Given the description of an element on the screen output the (x, y) to click on. 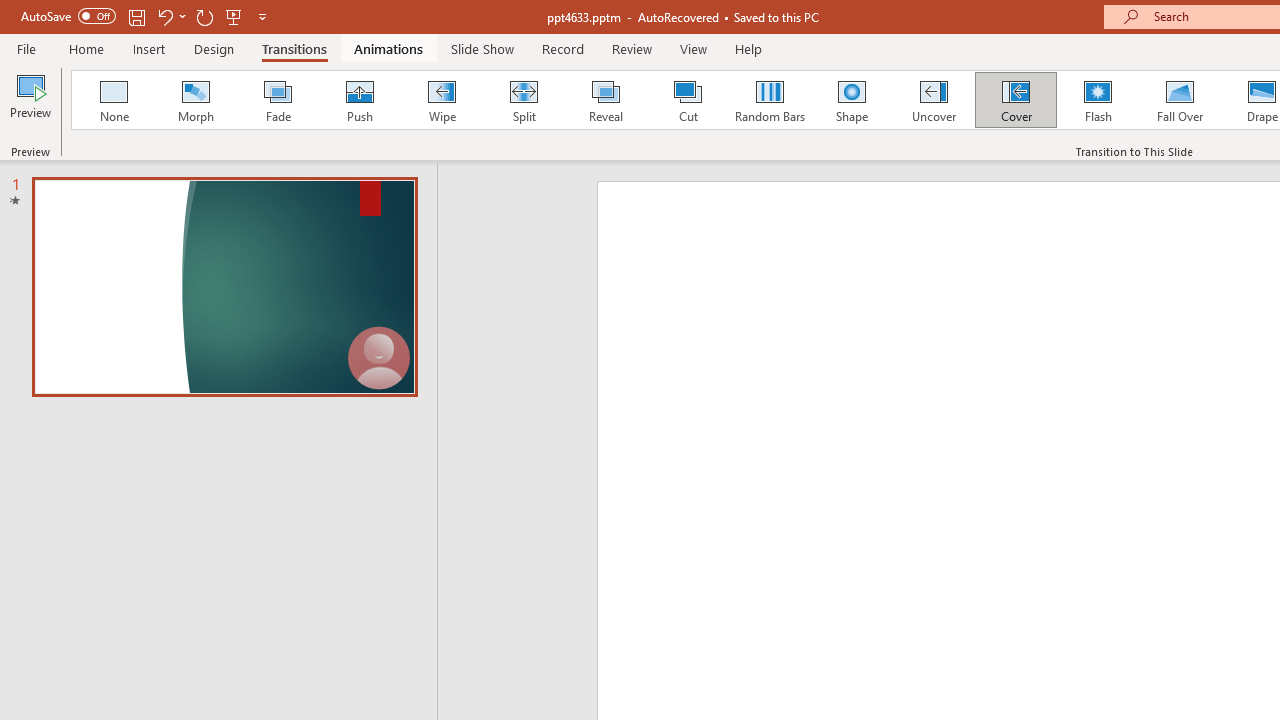
Retrospect Loading Preview... (801, 100)
Organic Loading Preview... (708, 100)
Basis Loading Preview... (1172, 100)
Slice Loading Preview... (893, 100)
Wisp Loading Preview... (987, 100)
